Given the description of an element on the screen output the (x, y) to click on. 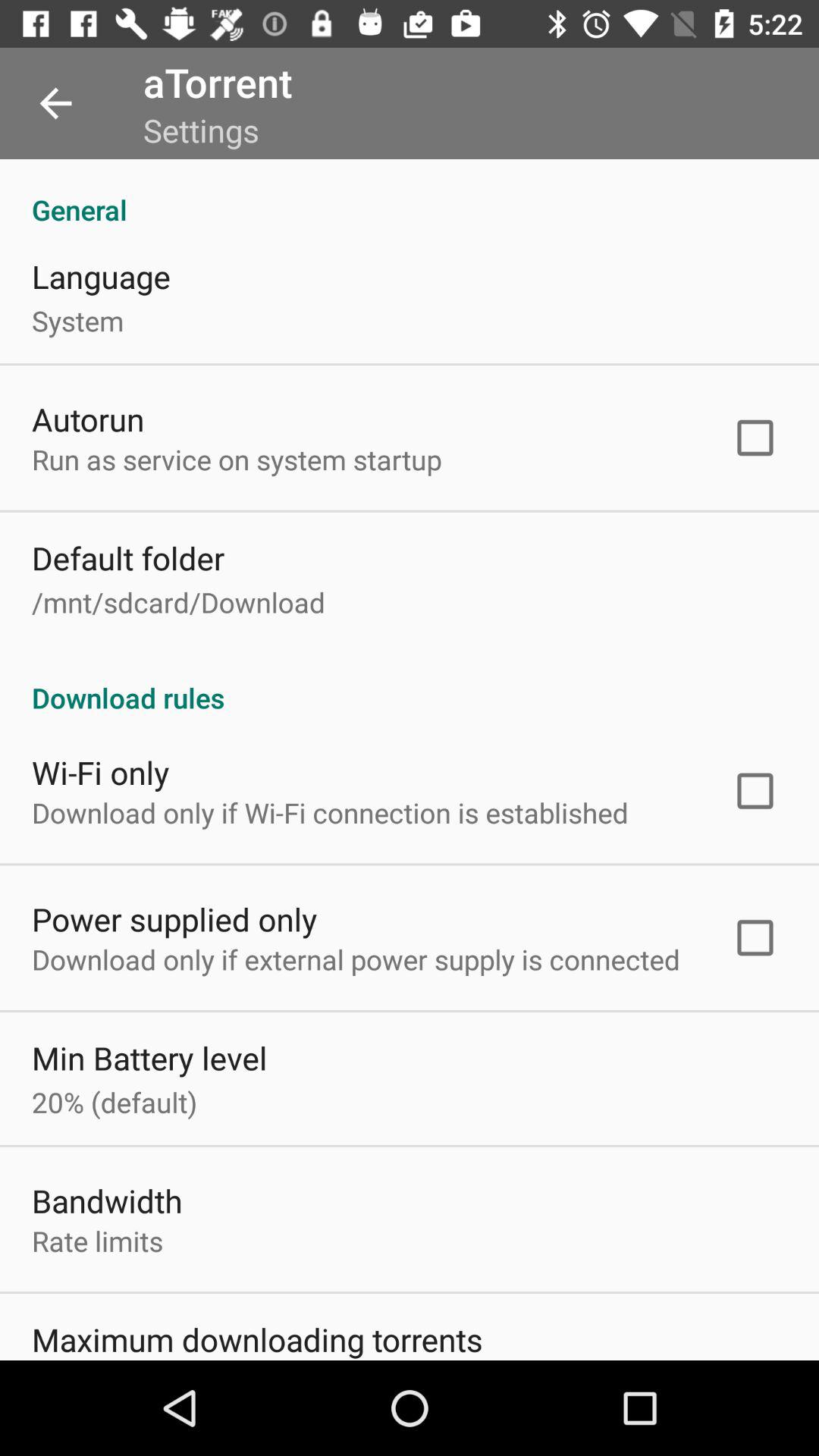
launch item below autorun (236, 459)
